Given the description of an element on the screen output the (x, y) to click on. 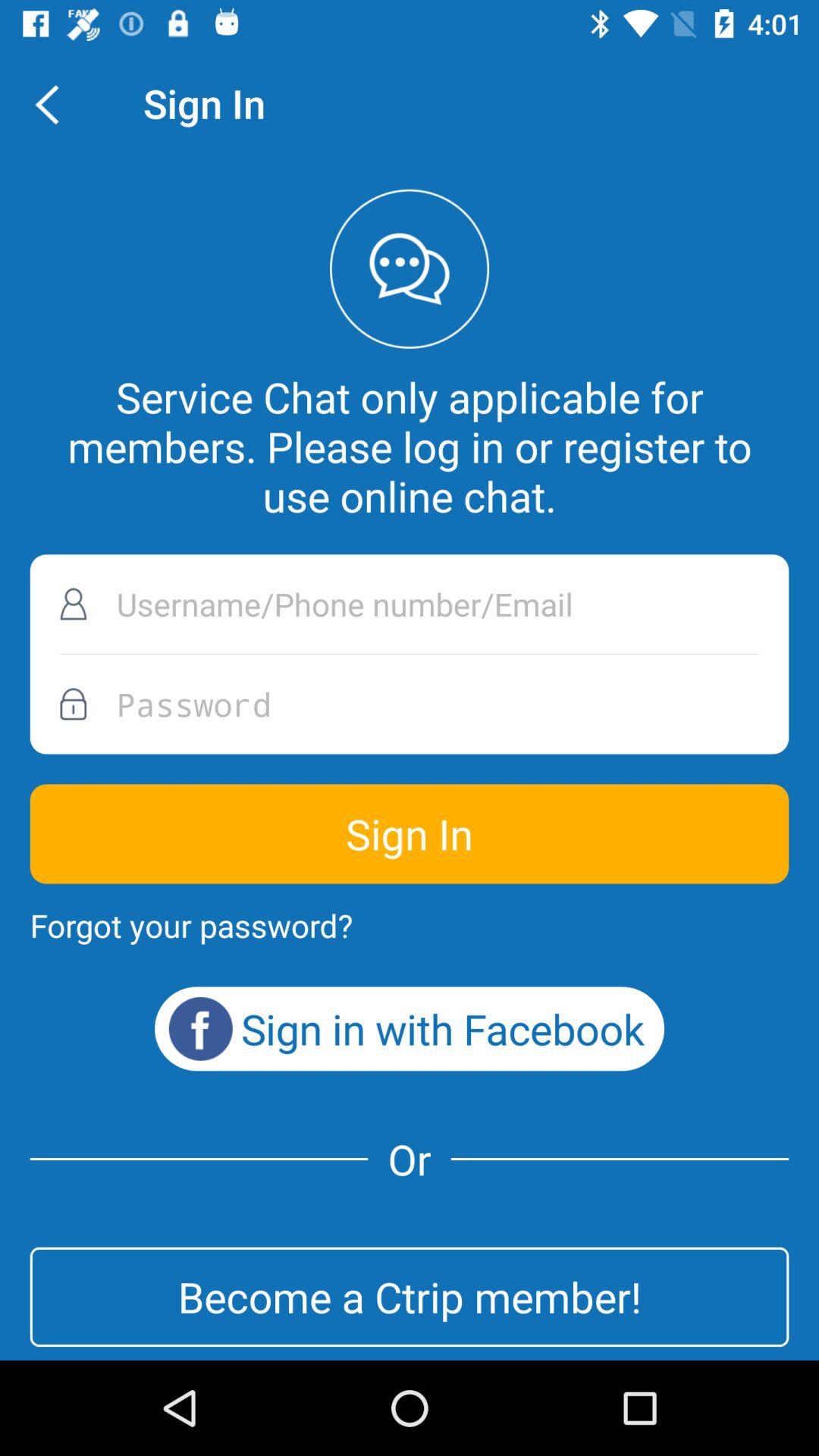
enter username (409, 604)
